Given the description of an element on the screen output the (x, y) to click on. 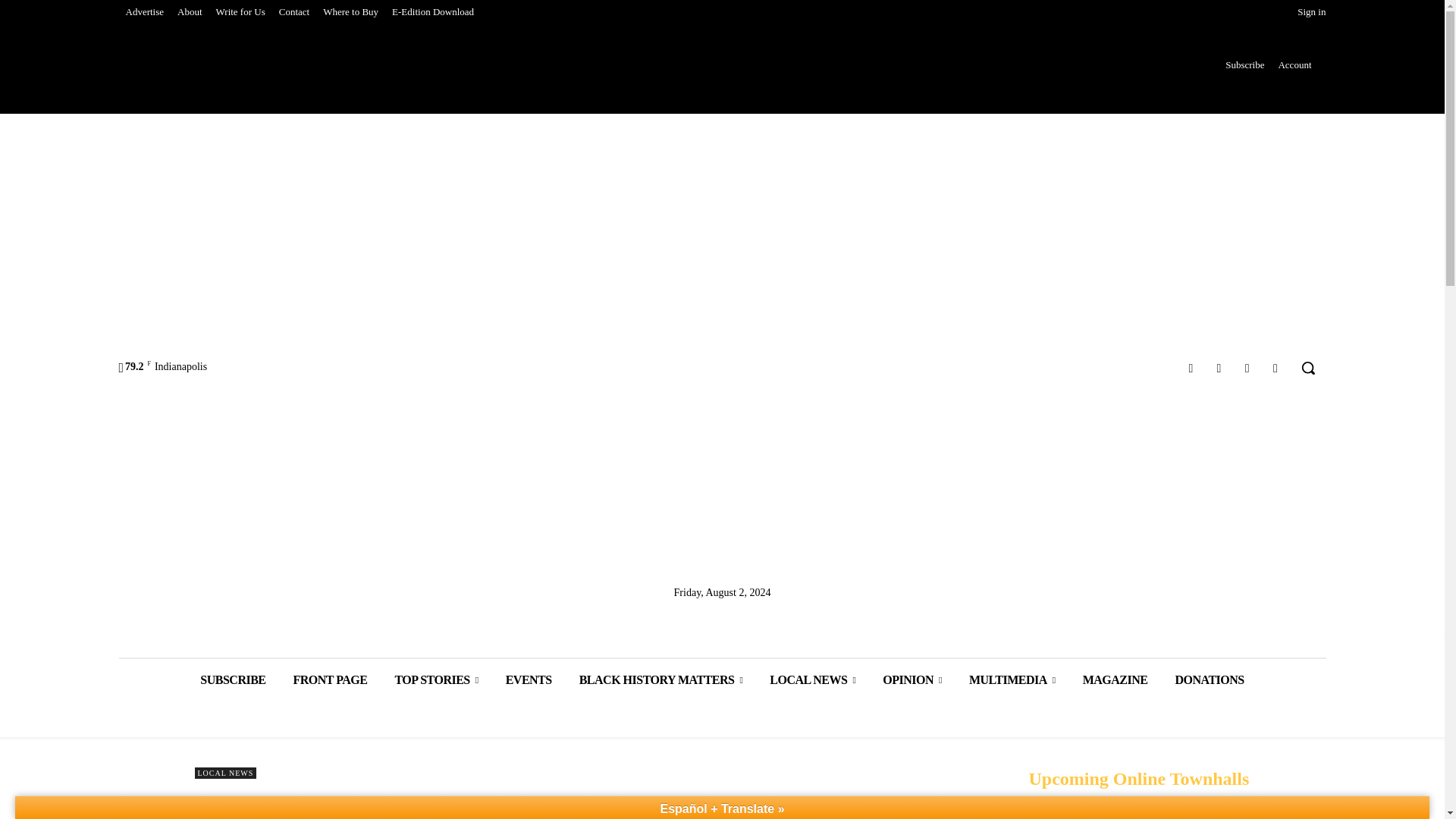
Instagram (1218, 367)
Facebook (1190, 367)
Twitter (1246, 367)
Advertise (143, 12)
Youtube (1275, 367)
